Given the description of an element on the screen output the (x, y) to click on. 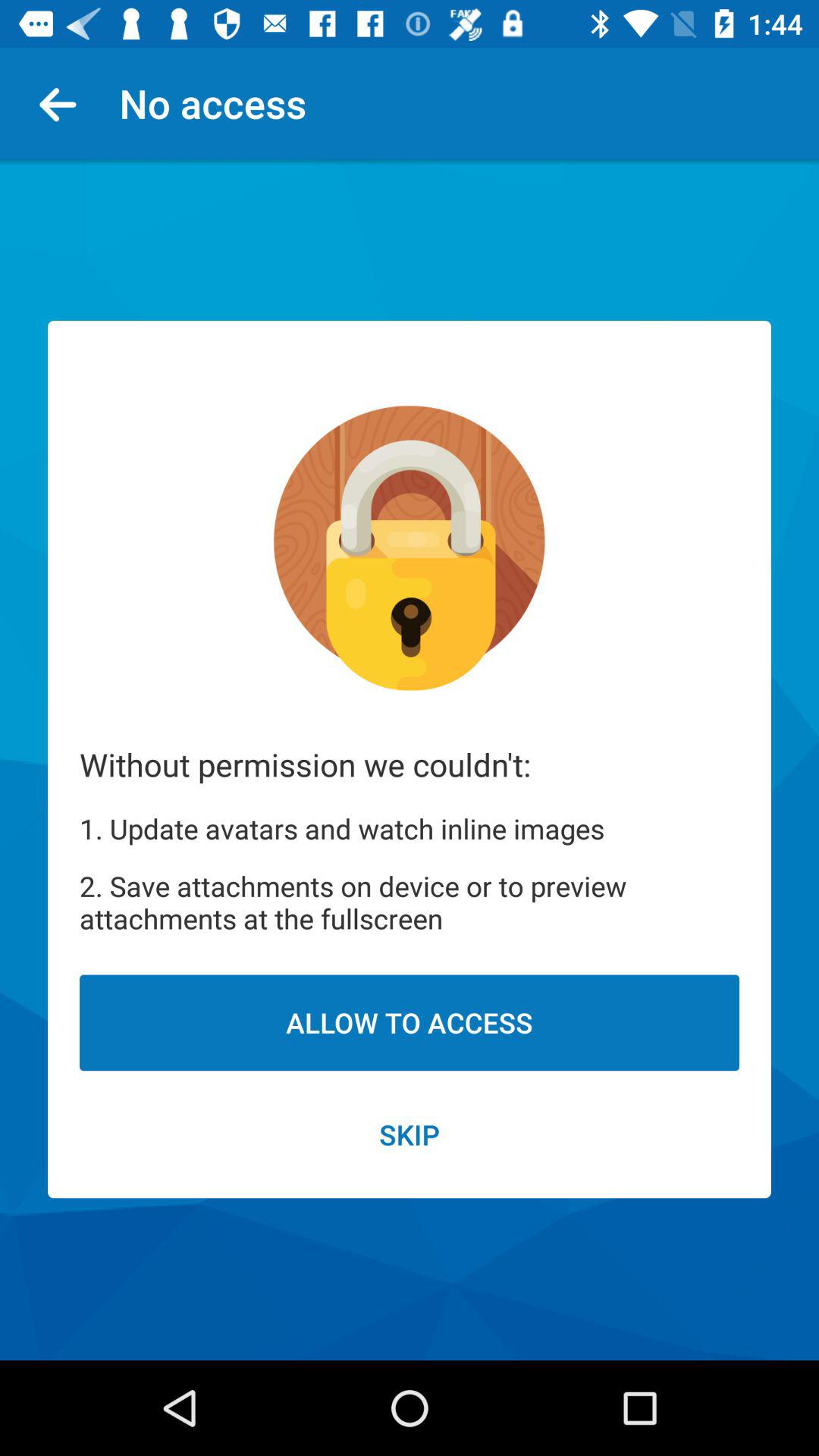
open the icon above skip item (409, 1022)
